Given the description of an element on the screen output the (x, y) to click on. 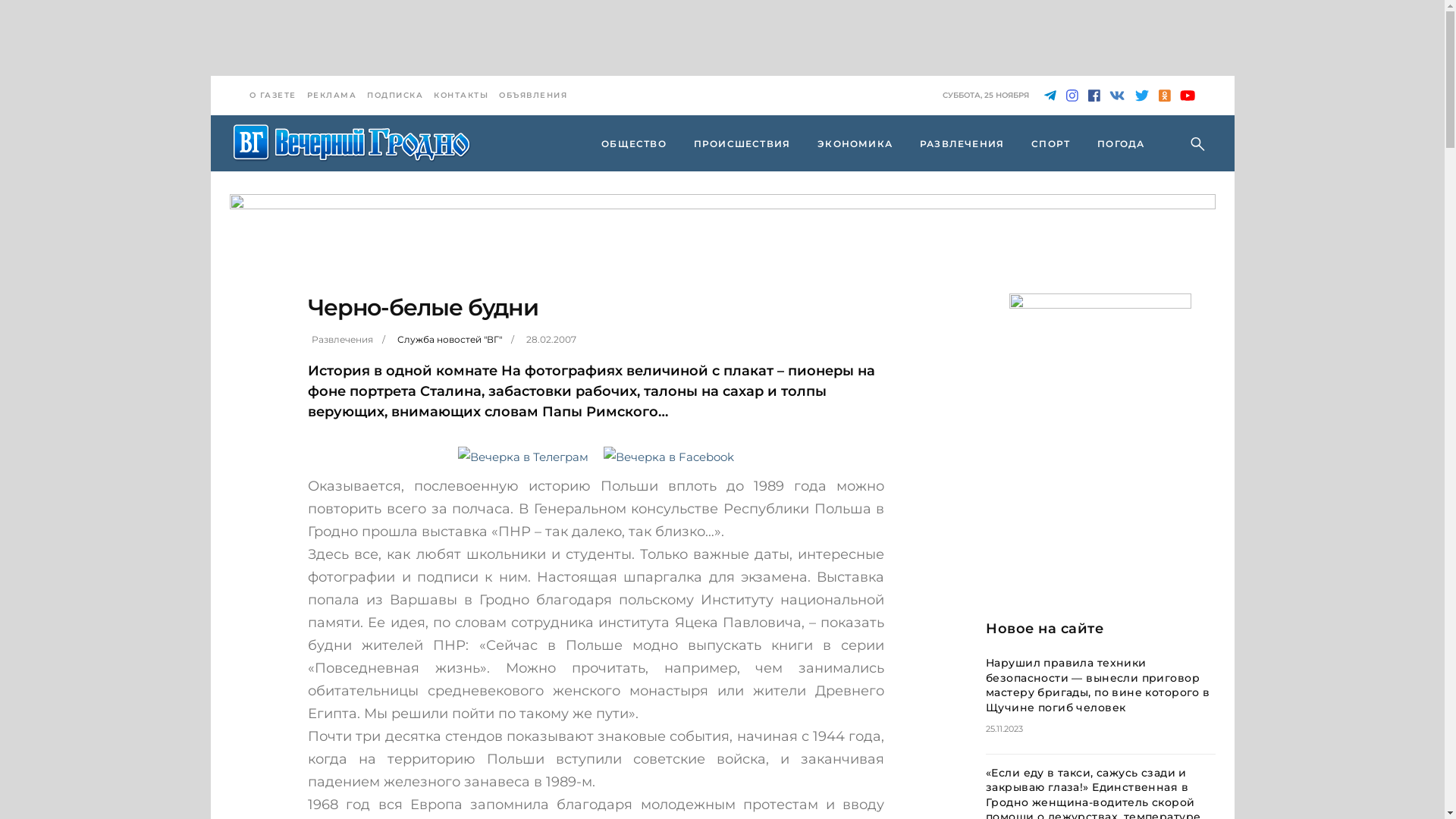
Youtube Element type: hover (1187, 95)
28.02.2007 Element type: text (551, 339)
25.11.2023 Element type: text (1003, 728)
VK Element type: hover (1116, 95)
Facebook Element type: hover (1093, 95)
Twitter Element type: hover (1141, 95)
Instagram Element type: hover (1072, 95)
Telegram Element type: hover (1050, 95)
